Given the description of an element on the screen output the (x, y) to click on. 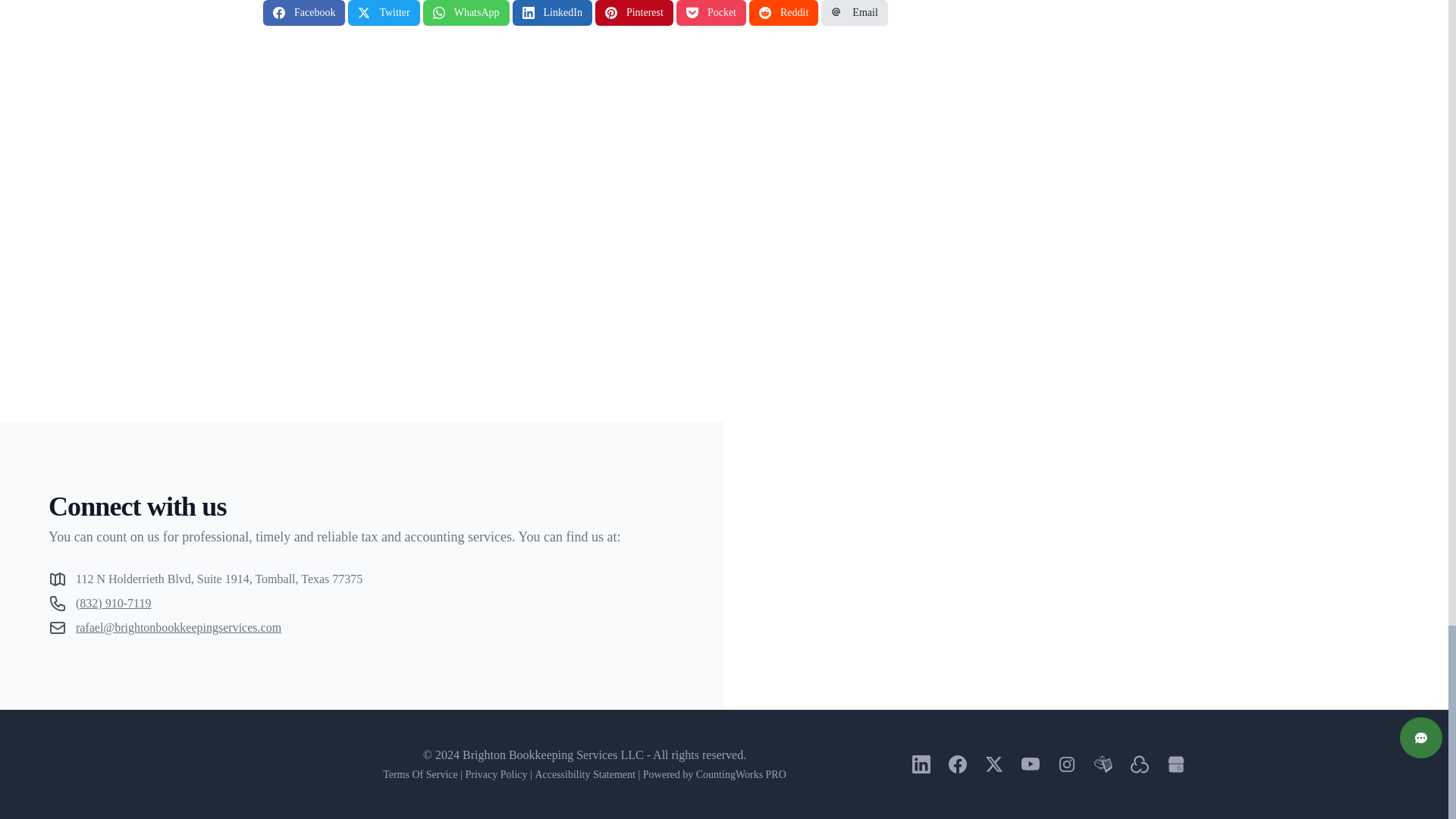
Facebook (304, 12)
Twitter (383, 12)
